Given the description of an element on the screen output the (x, y) to click on. 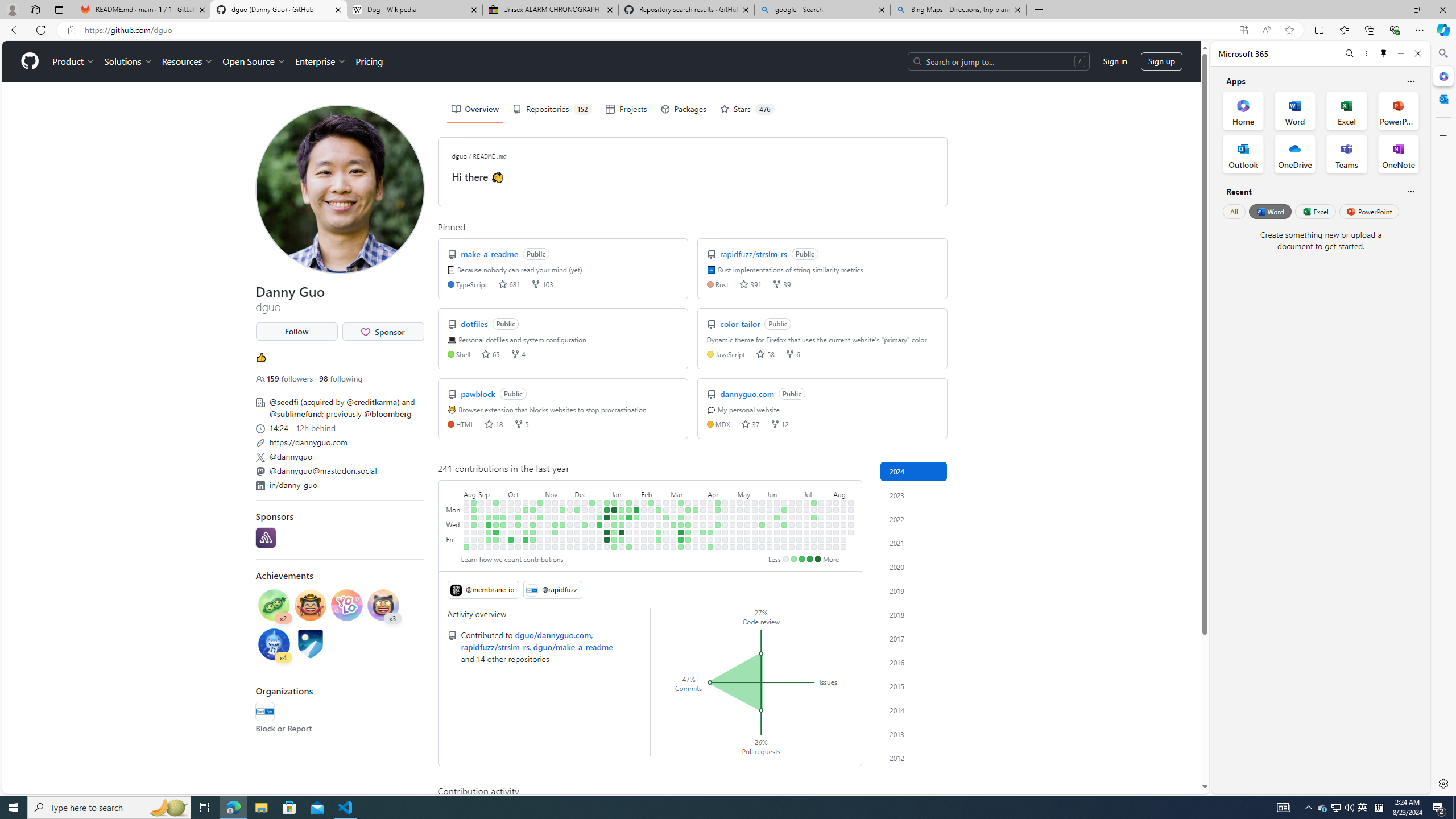
No contributions on January 3rd. (607, 524)
No contributions on March 19th. (688, 517)
No contributions on March 23rd. (688, 546)
Resources (187, 60)
Achievement: Pull Shark x4 (273, 645)
No contributions on February 29th. (665, 531)
No contributions on June 21st. (784, 539)
No contributions on December 21st. (592, 531)
No contributions on January 28th. (636, 502)
No contributions on April 3rd. (703, 524)
Outlook Office App (1243, 154)
No contributions on November 10th. (547, 539)
All (1233, 210)
